Given the description of an element on the screen output the (x, y) to click on. 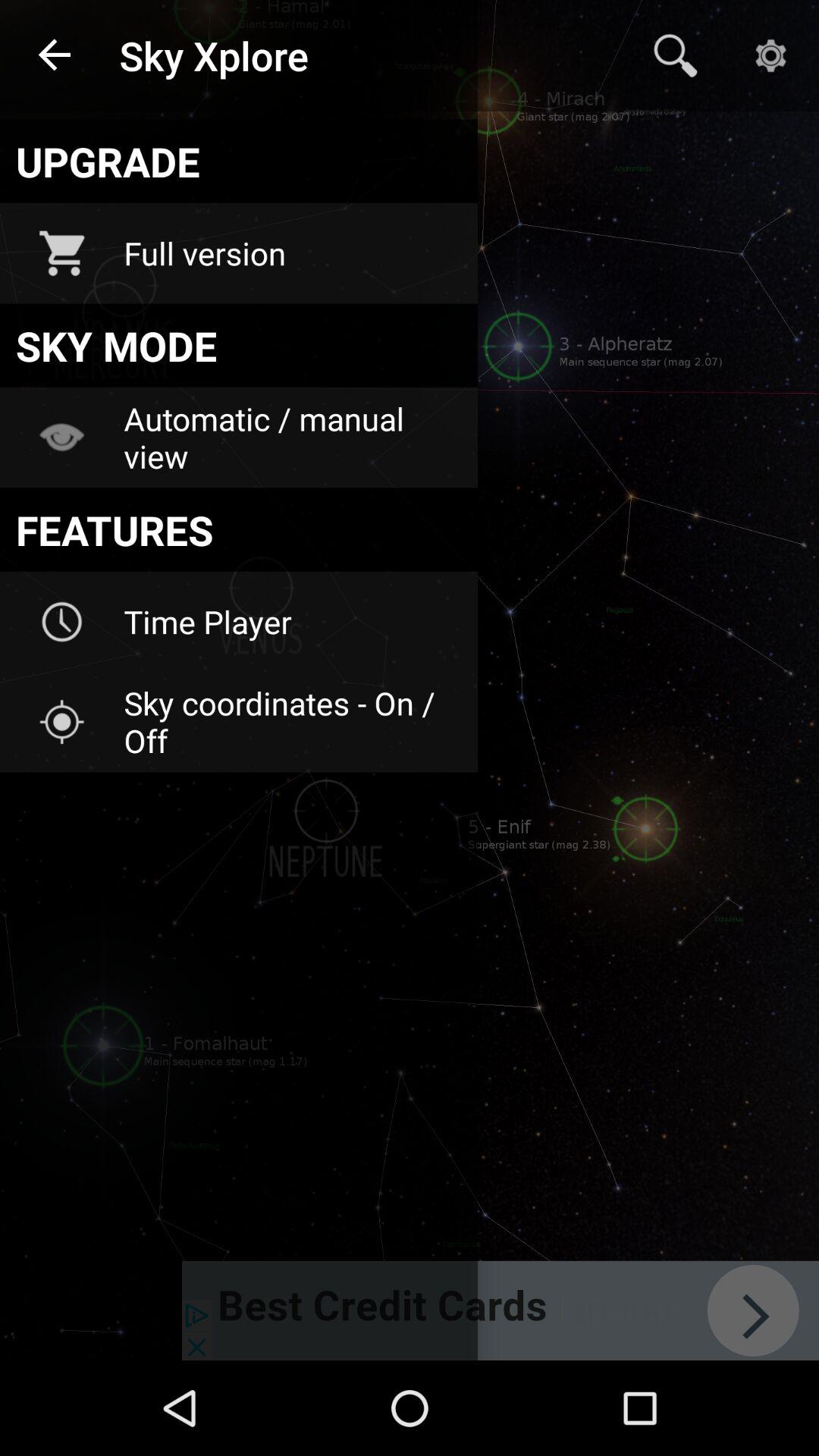
jump to the full version (290, 253)
